Given the description of an element on the screen output the (x, y) to click on. 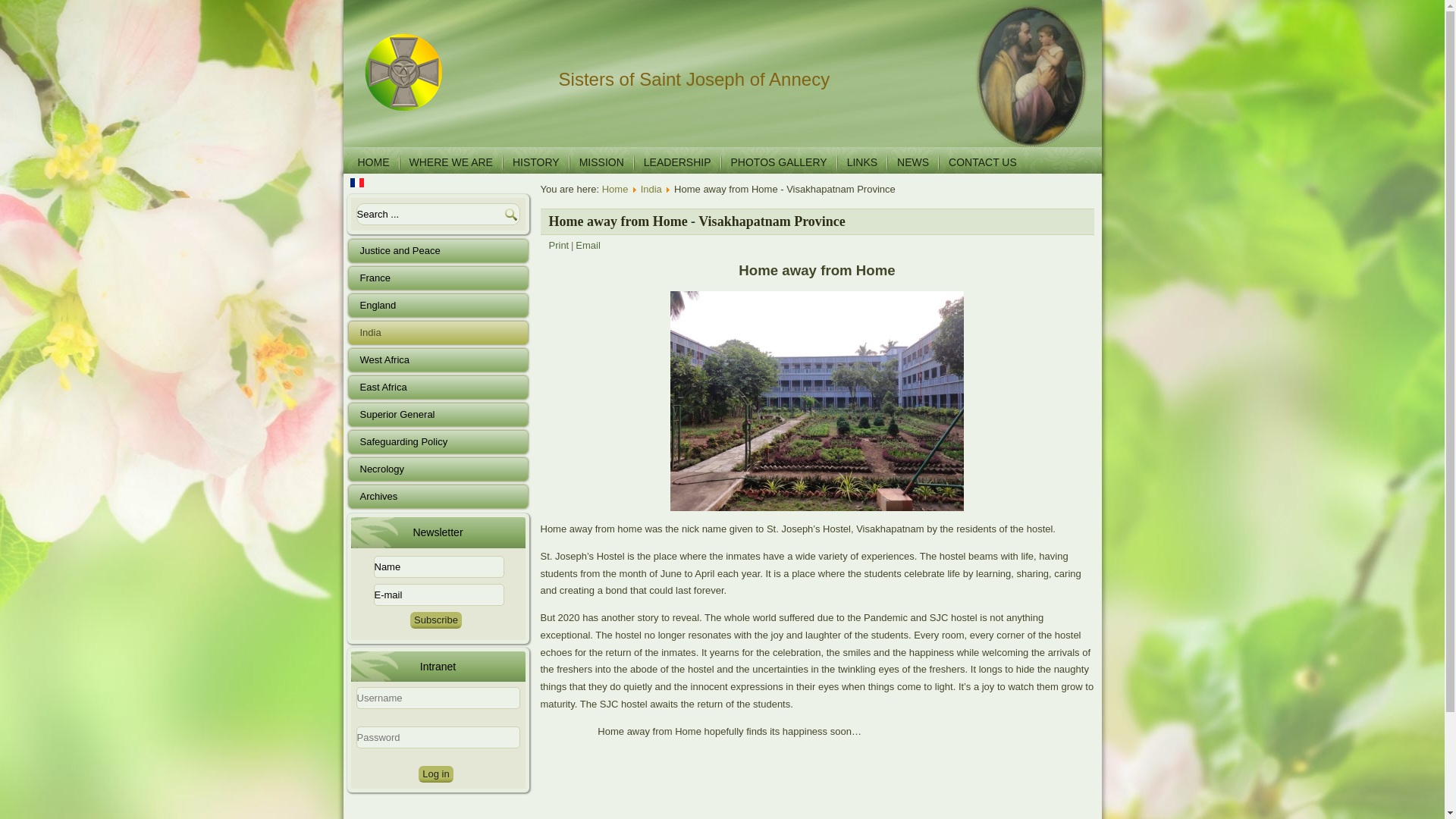
WHERE WE ARE (451, 162)
E-mail (437, 594)
India (437, 332)
Justice and Peace (437, 250)
NEWS (912, 162)
Safeguarding Policy (437, 441)
East Africa (437, 387)
Home (615, 188)
India (651, 188)
Sisters of Saint Joseph of Annecy (694, 78)
Print (558, 244)
Archives (437, 496)
Subscribe (435, 619)
Email this link to a friend (587, 244)
LINKS (862, 162)
